Given the description of an element on the screen output the (x, y) to click on. 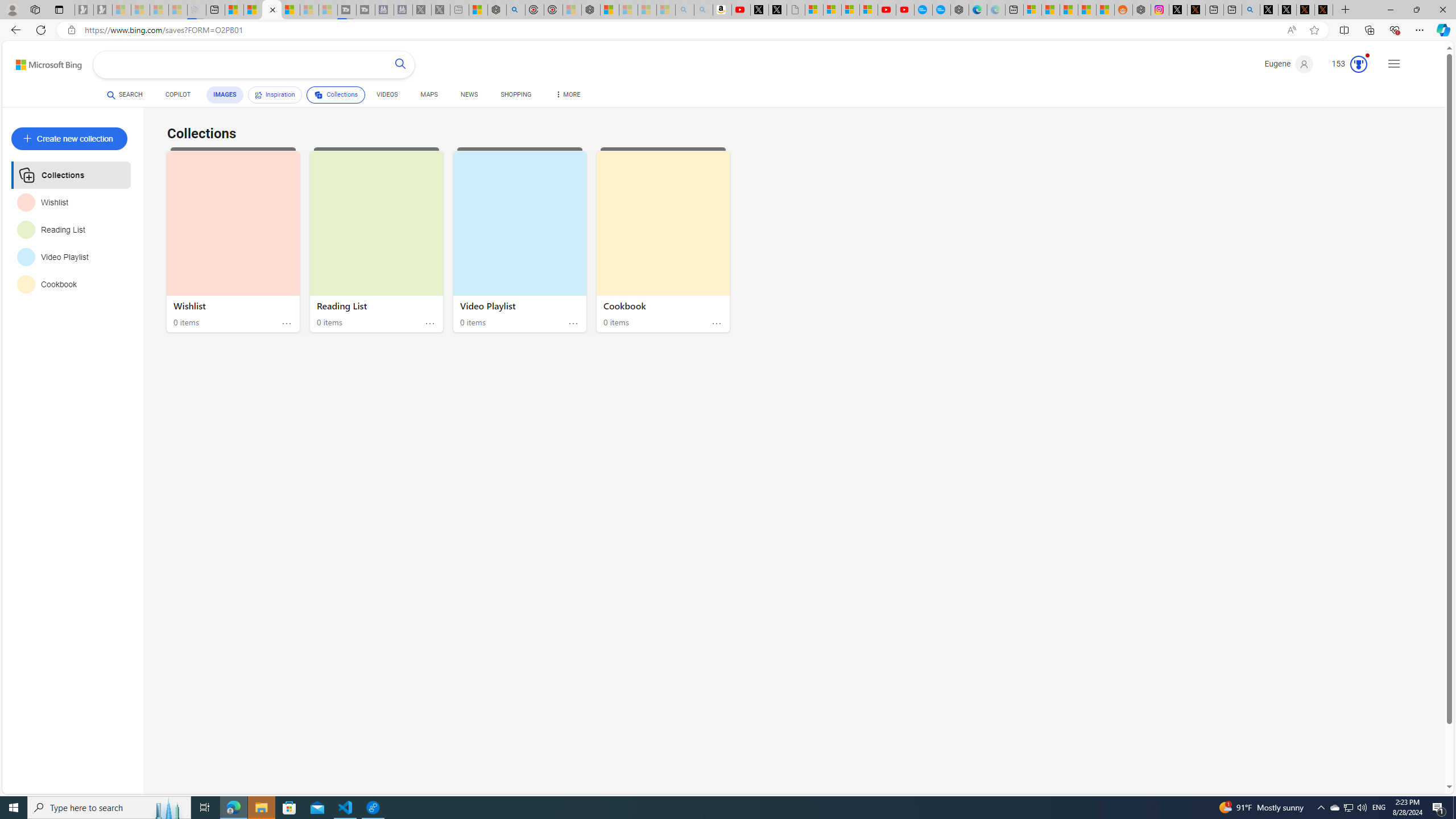
Profile / X (1268, 9)
MAPS (428, 94)
SEARCH (124, 94)
SEARCH (124, 94)
More actions for this saved result (716, 324)
COPILOT (178, 94)
